Given the description of an element on the screen output the (x, y) to click on. 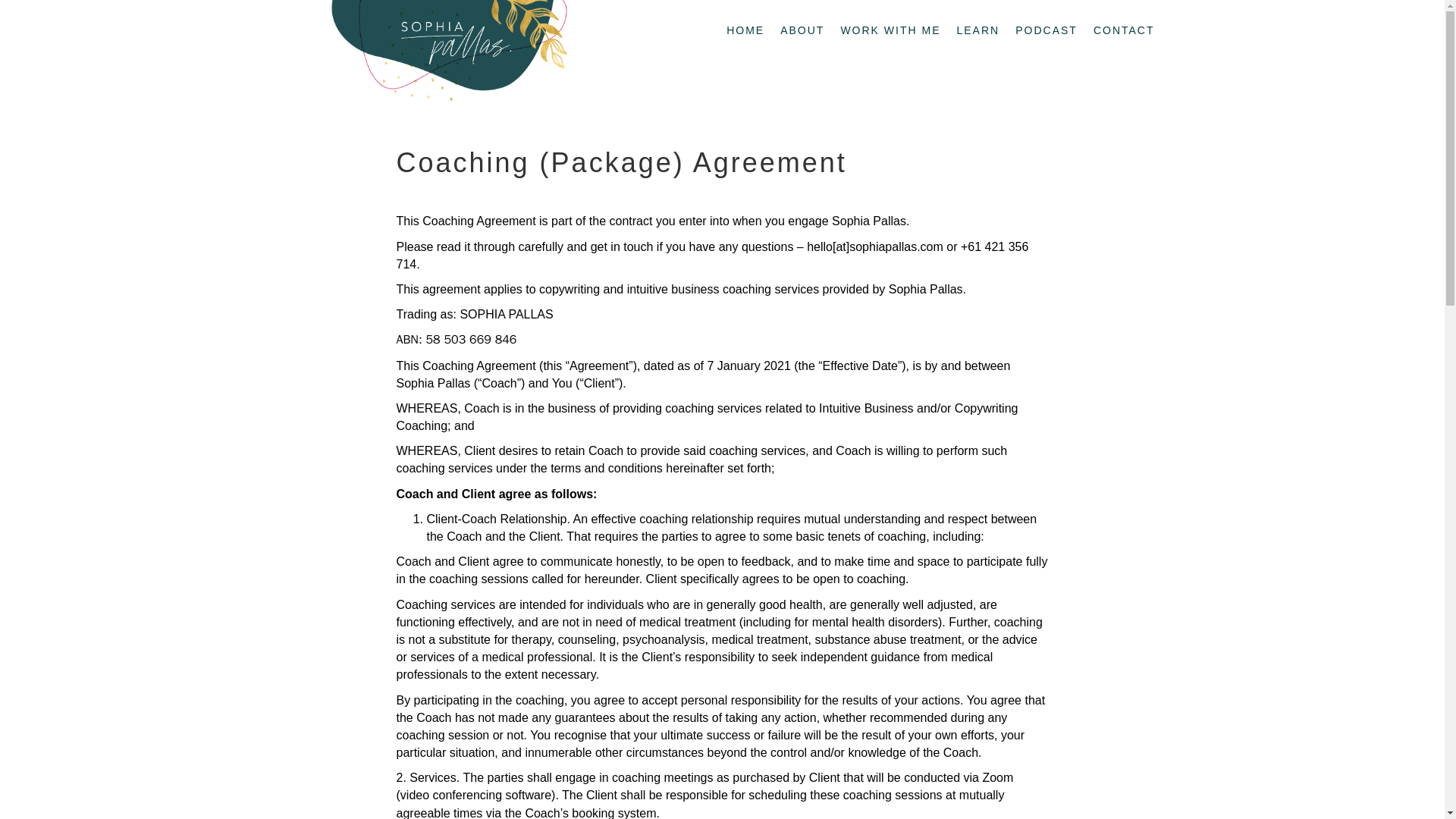
HOME (745, 30)
ABOUT (802, 30)
PODCAST (1045, 30)
SP - Website Brand Refresh Build-11 (445, 54)
WORK WITH ME (889, 30)
CONTACT (1123, 30)
LEARN (978, 30)
